Given the description of an element on the screen output the (x, y) to click on. 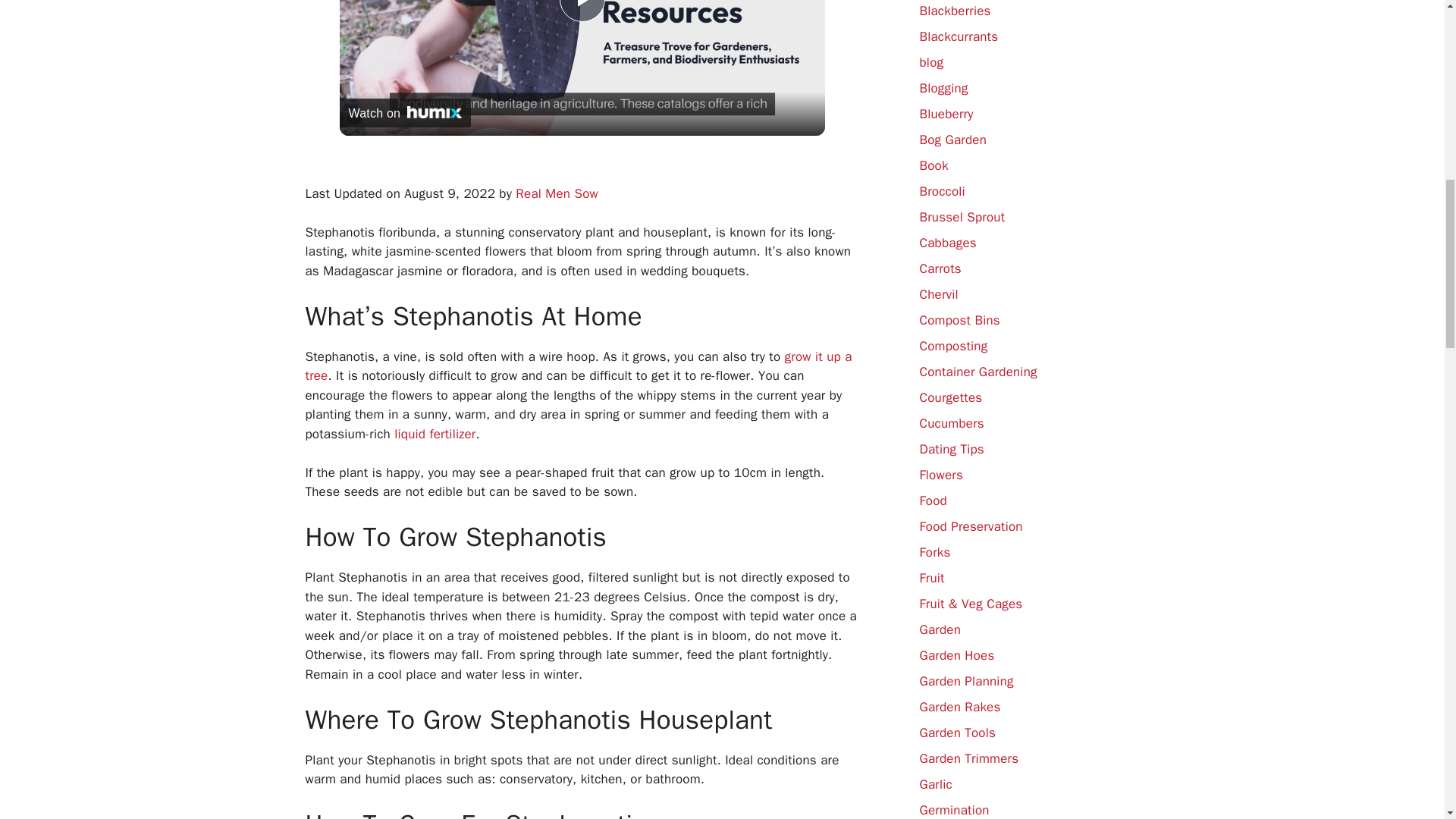
grow it up a tree (577, 366)
Watch on (405, 112)
Play Video (582, 11)
Play Video (582, 11)
Real Men Sow (556, 193)
liquid fertilizer (435, 433)
